Given the description of an element on the screen output the (x, y) to click on. 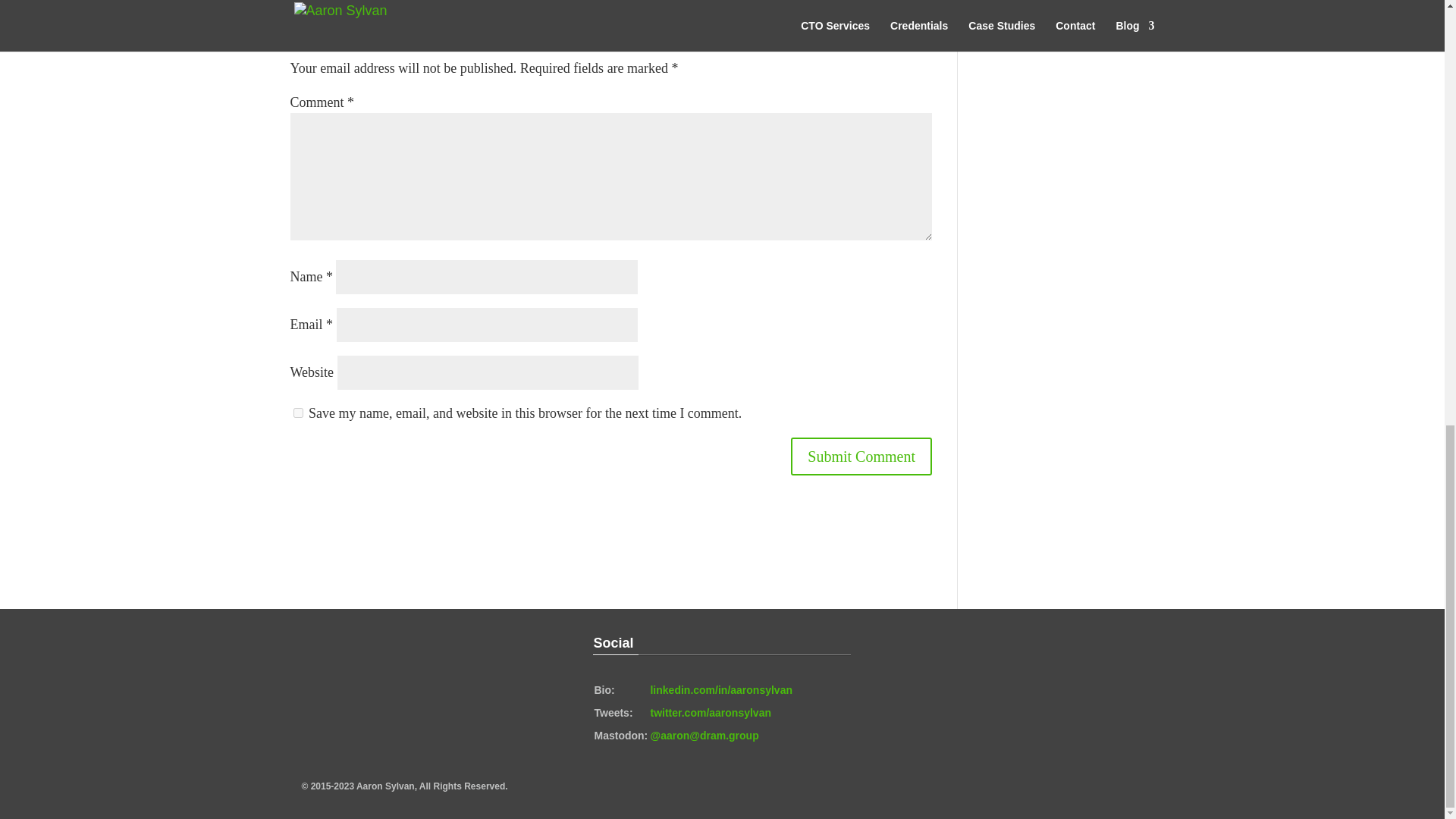
Submit Comment (860, 456)
yes (297, 412)
Submit Comment (860, 456)
Mastodon is my preferred new social channel! (703, 735)
I check LinkedIn every few days. (720, 689)
